Given the description of an element on the screen output the (x, y) to click on. 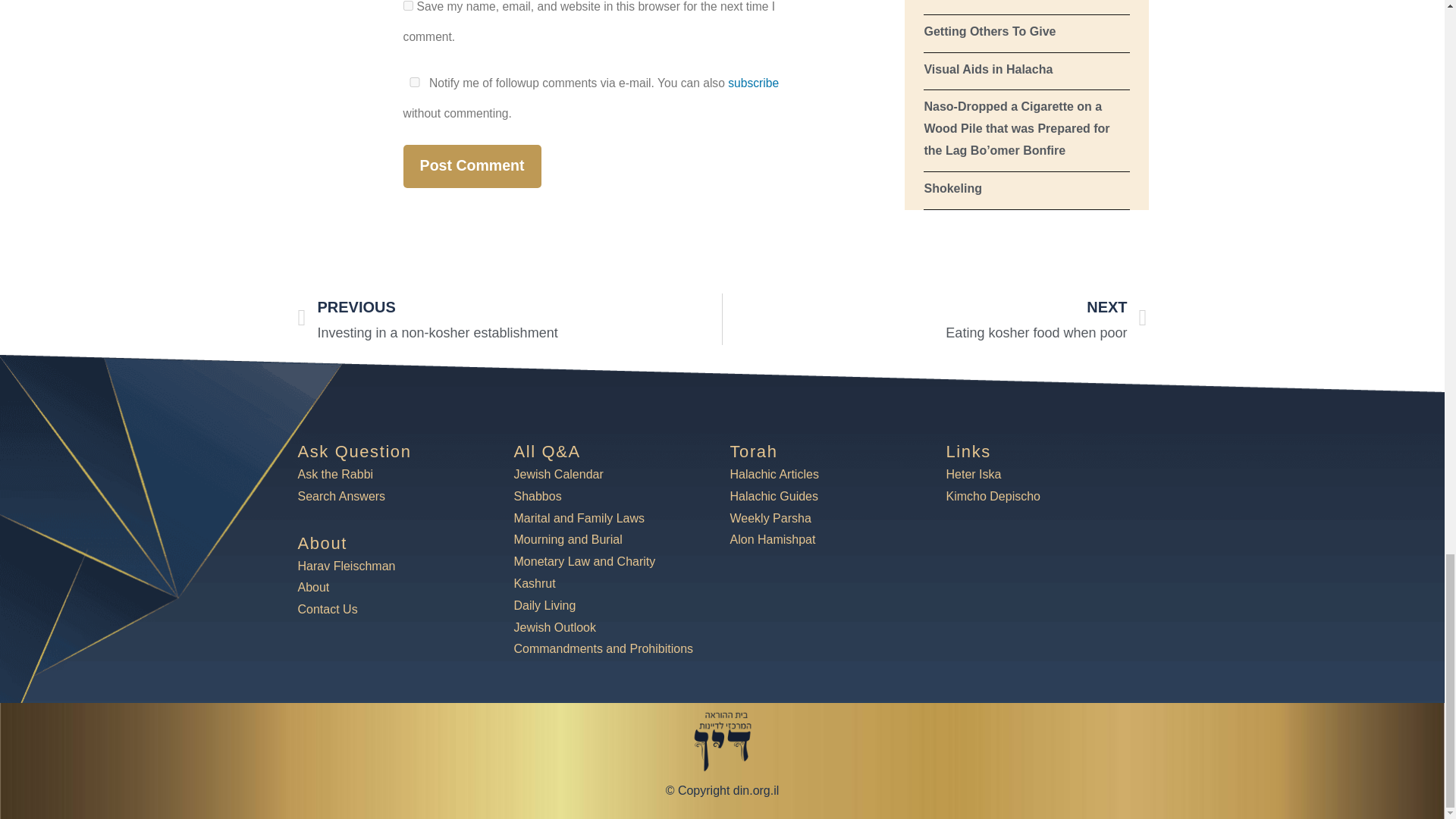
Post Comment (472, 166)
Post Comment (472, 166)
yes (414, 81)
subscribe (753, 82)
yes (408, 5)
